Given the description of an element on the screen output the (x, y) to click on. 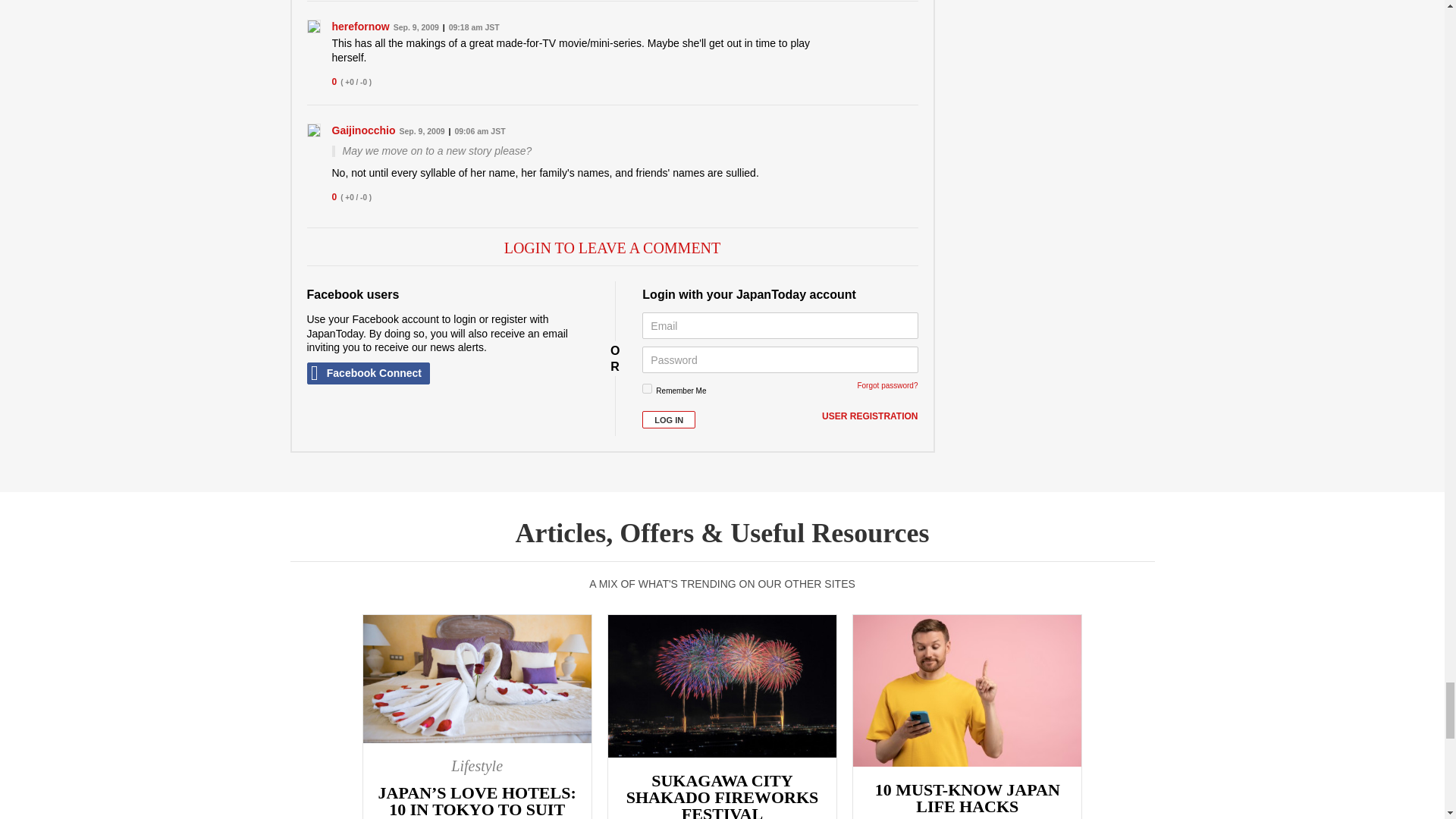
Connect with Facebook (367, 373)
Forgot password? (887, 385)
User registration (869, 417)
1 (647, 388)
Log In (668, 419)
